Given the description of an element on the screen output the (x, y) to click on. 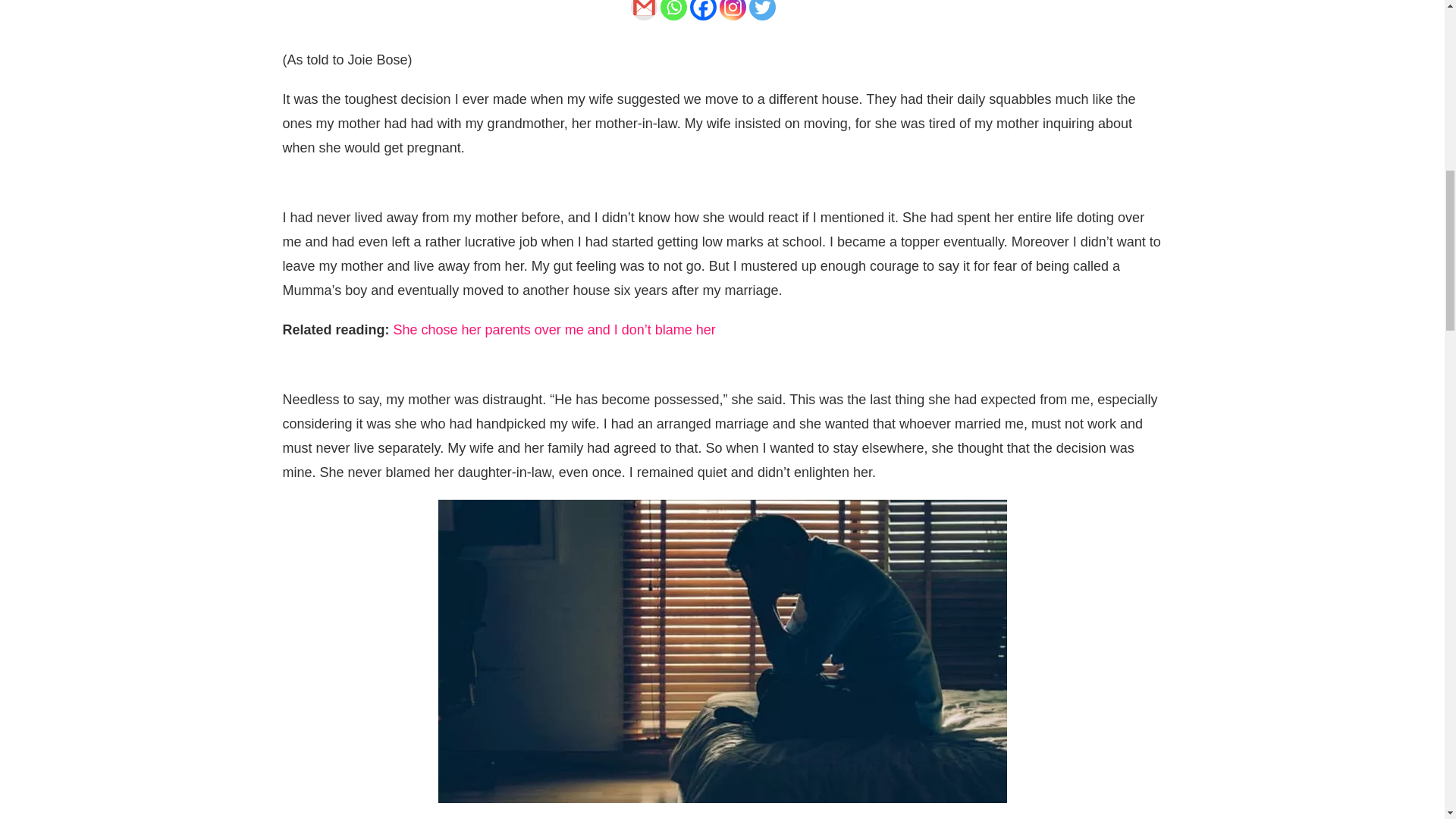
Google Gmail (644, 10)
Twitter (762, 10)
Whatsapp (674, 10)
Facebook (703, 10)
Instagram (732, 10)
